Given the description of an element on the screen output the (x, y) to click on. 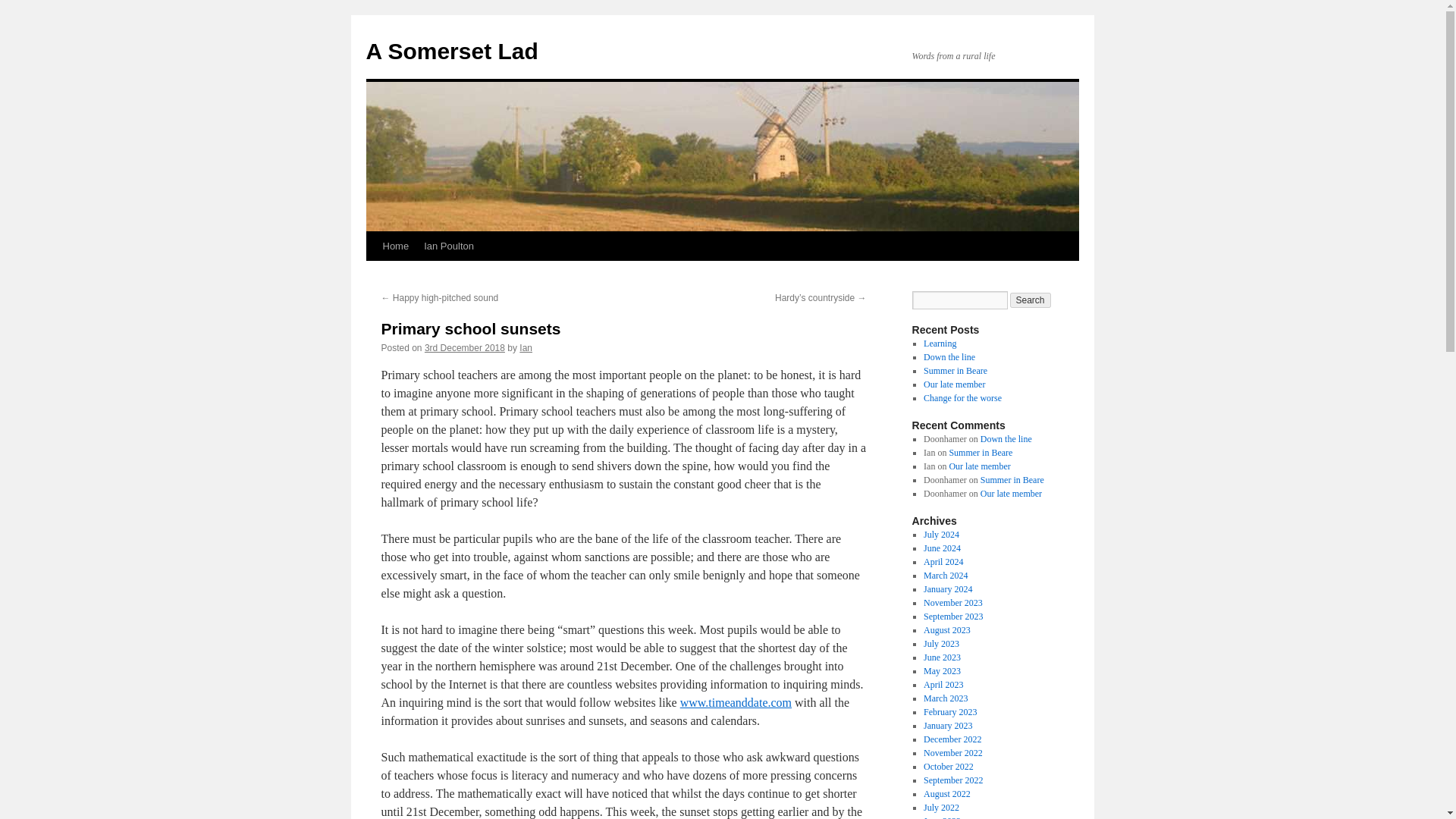
August 2023 (947, 629)
January 2024 (947, 588)
Our late member (1010, 493)
June 2023 (941, 656)
Summer in Beare (980, 452)
March 2024 (945, 575)
April 2023 (942, 684)
September 2023 (952, 615)
July 2023 (941, 643)
February 2023 (949, 711)
